Given the description of an element on the screen output the (x, y) to click on. 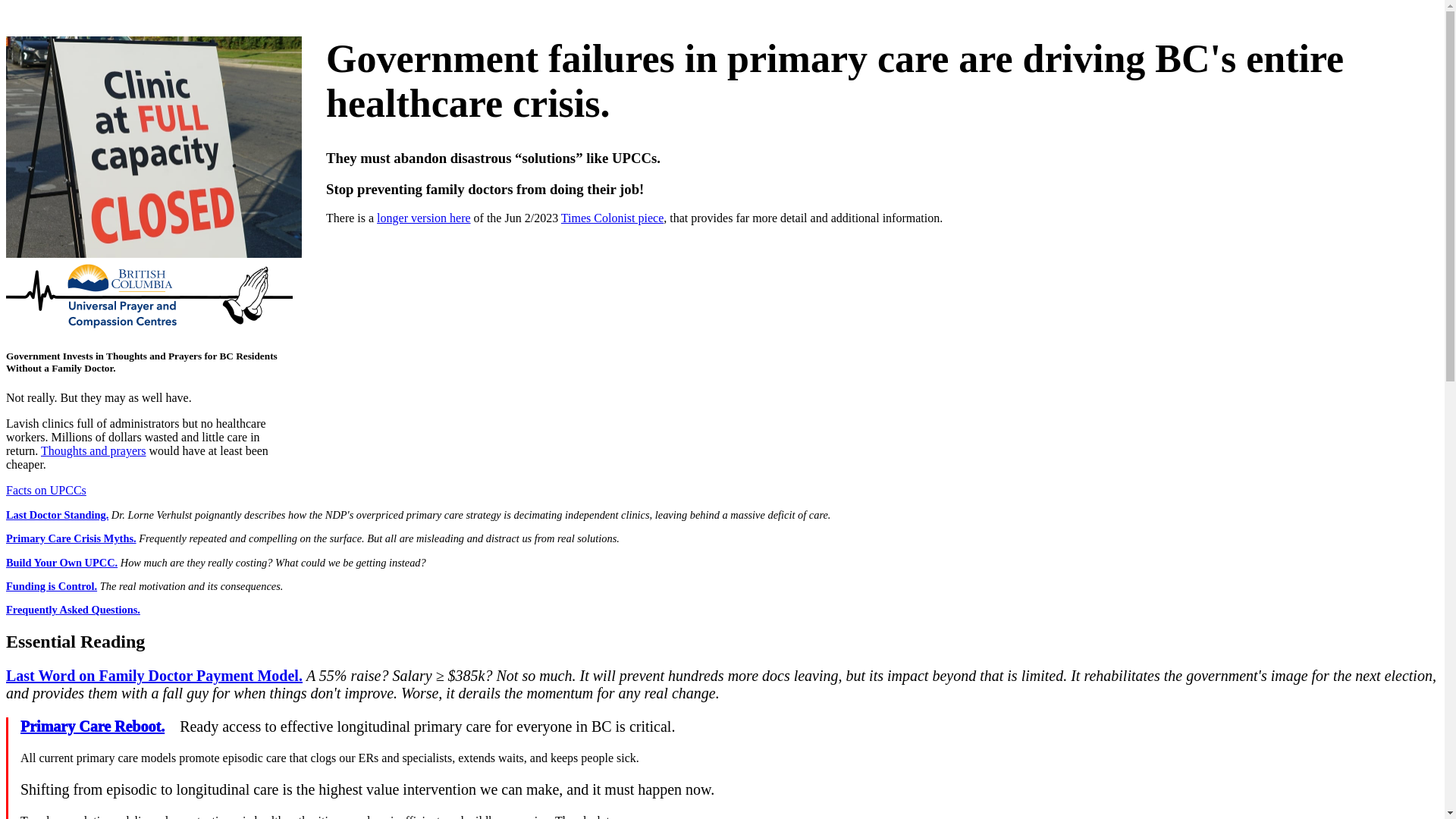
Primary Care Crisis Myths. Element type: text (71, 538)
Last Word on Family Doctor Payment Model. Element type: text (154, 675)
Facts on UPCCs Element type: text (46, 489)
Times Colonist piece Element type: text (612, 217)
Last Doctor Standing. Element type: text (57, 514)
Funding is Control. Element type: text (51, 586)
Thoughts and prayers Element type: text (93, 450)
longer version here Element type: text (423, 217)
Frequently Asked Questions. Element type: text (73, 609)
Build Your Own UPCC. Element type: text (61, 562)
Primary Care Reboot. Element type: text (92, 726)
